Given the description of an element on the screen output the (x, y) to click on. 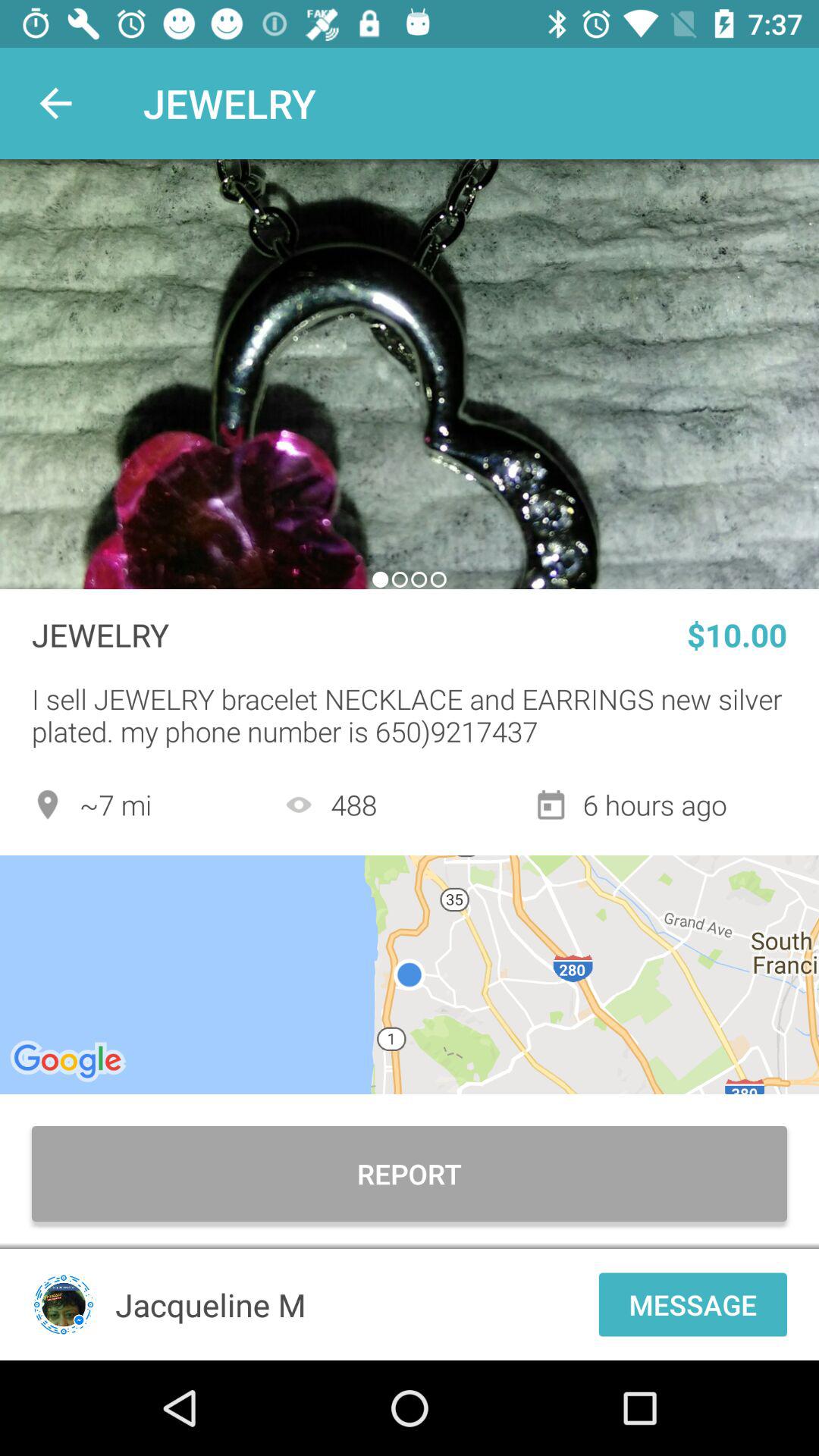
turn off the icon below ~7 mi (409, 974)
